Given the description of an element on the screen output the (x, y) to click on. 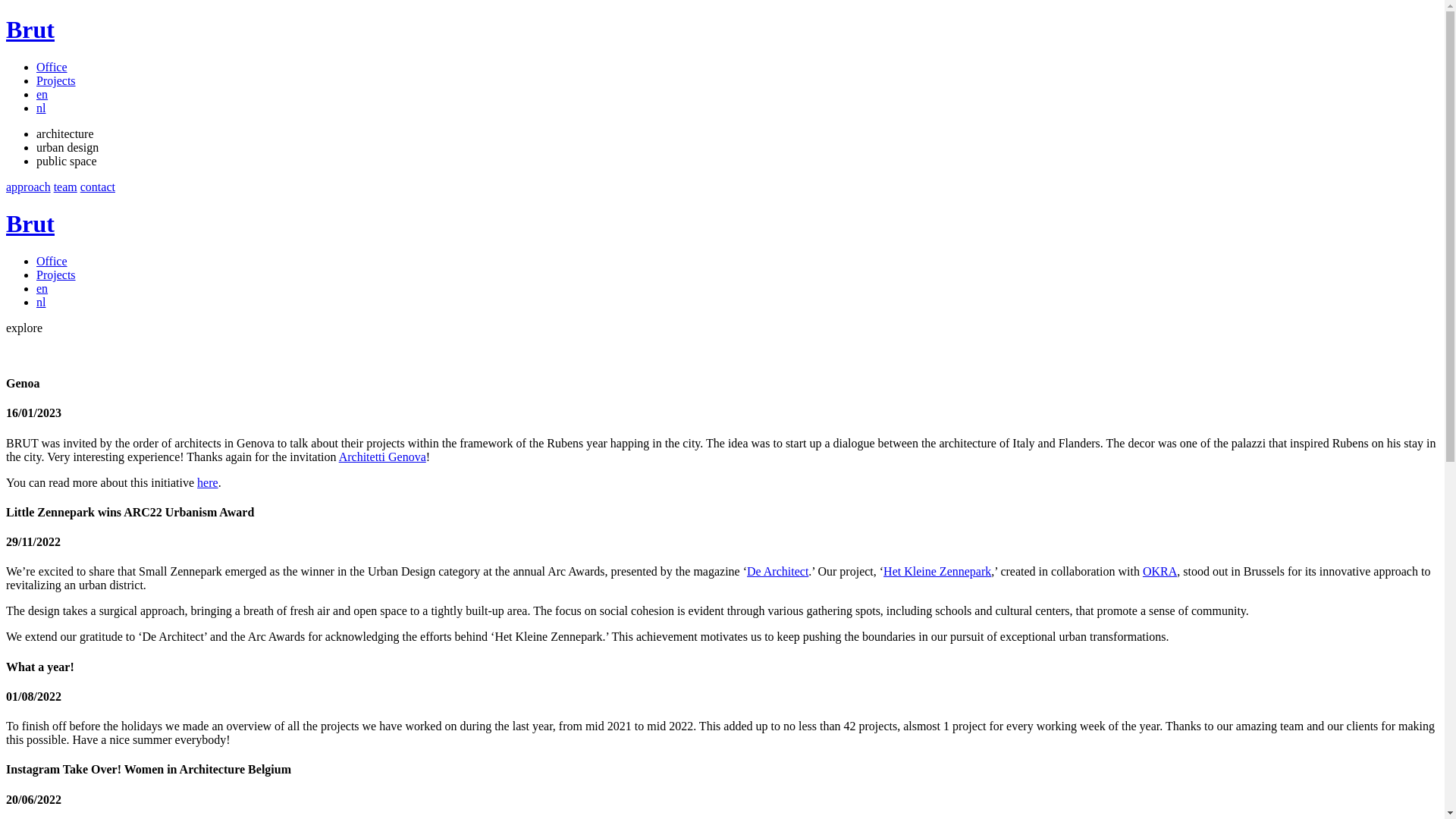
Office Element type: text (51, 66)
Brut Element type: text (30, 223)
Architetti Genova Element type: text (382, 456)
contact Element type: text (97, 186)
Brut Element type: text (30, 29)
Het Kleine Zennepark Element type: text (937, 570)
nl Element type: text (40, 302)
Projects Element type: text (55, 274)
De Architect Element type: text (777, 570)
here Element type: text (207, 482)
team Element type: text (65, 186)
Projects Element type: text (55, 80)
Office Element type: text (51, 260)
en Element type: text (41, 288)
nl Element type: text (40, 108)
OKRA Element type: text (1159, 570)
en Element type: text (41, 94)
approach Element type: text (28, 186)
